Given the description of an element on the screen output the (x, y) to click on. 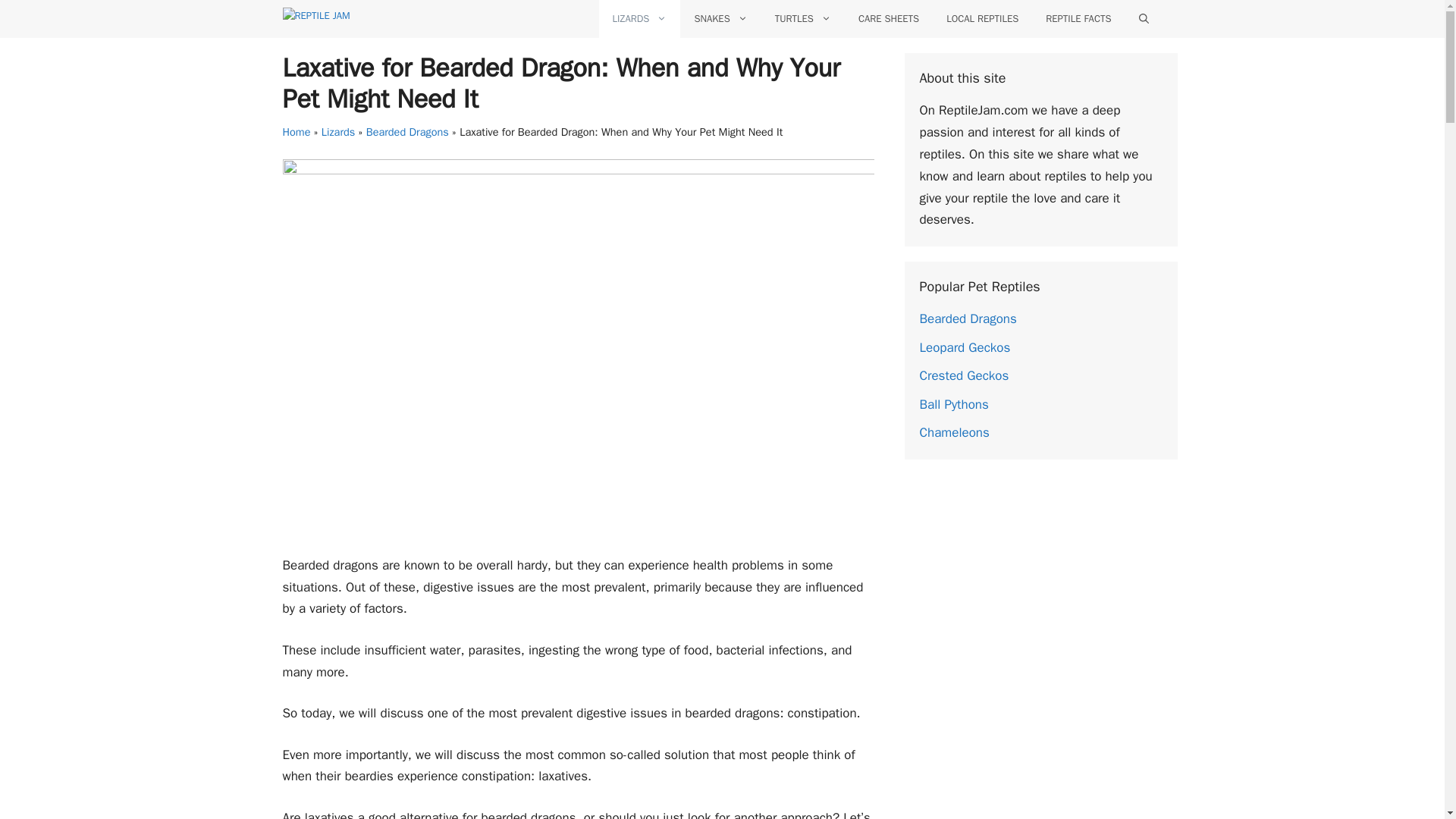
TURTLES (802, 18)
Reptile Jam (361, 18)
LIZARDS (639, 18)
SNAKES (719, 18)
